Given the description of an element on the screen output the (x, y) to click on. 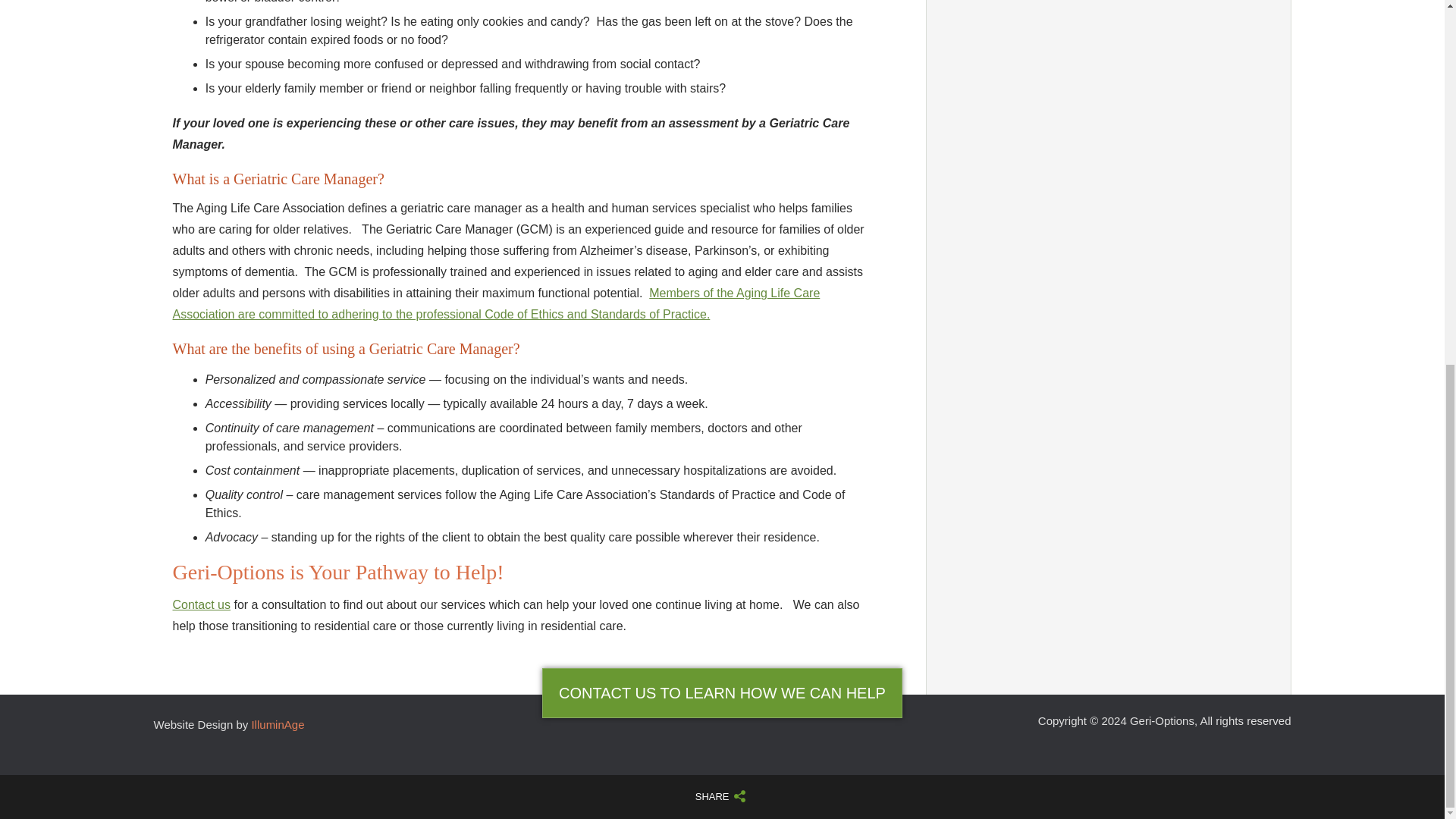
CONTACT US TO LEARN HOW WE CAN HELP (722, 692)
IlluminAge (277, 724)
Contact us (201, 604)
